Given the description of an element on the screen output the (x, y) to click on. 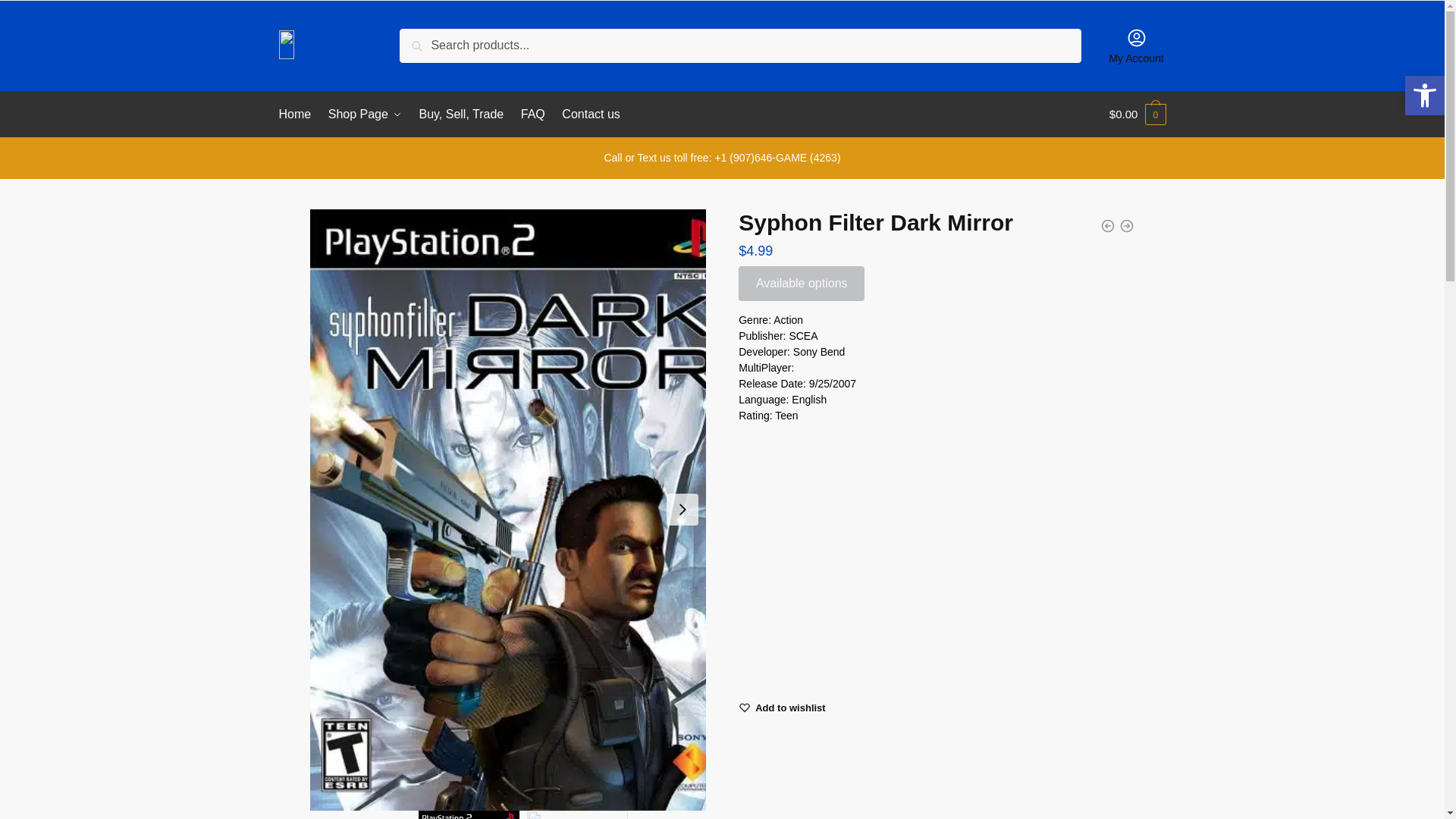
Accessibility Tools (1424, 95)
Wishlist (790, 707)
View your shopping cart (1137, 114)
Syphon Filter: Dark Mirror PlayStation 2 Trailer - (936, 554)
Shop Page (365, 114)
My Account (1136, 45)
Search (422, 38)
